Given the description of an element on the screen output the (x, y) to click on. 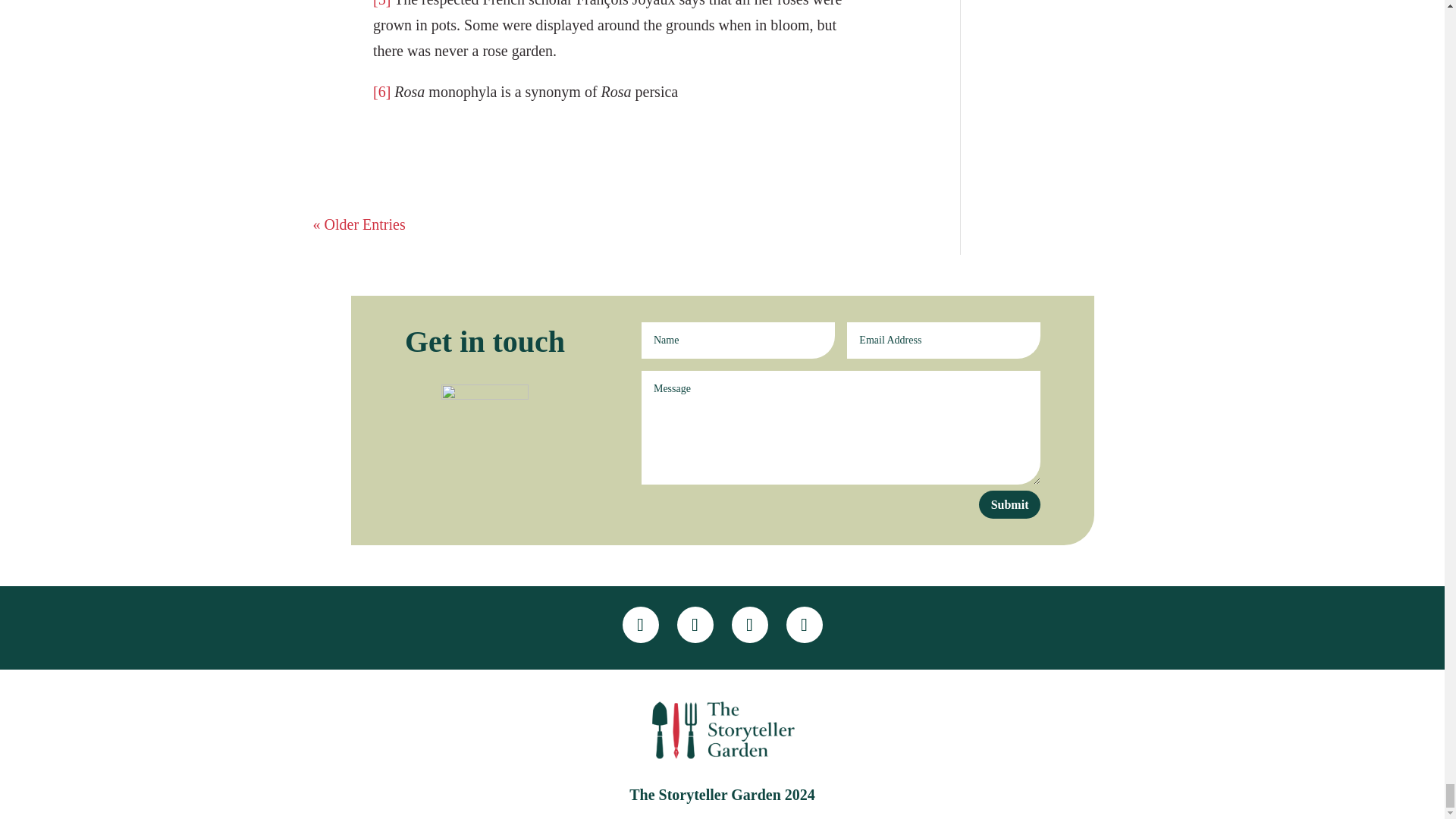
storyteller-garden (721, 731)
Follow on X (695, 624)
Follow on Instagram (748, 624)
icons (484, 426)
Follow on Youtube (804, 624)
Follow on Facebook (639, 624)
